Given the description of an element on the screen output the (x, y) to click on. 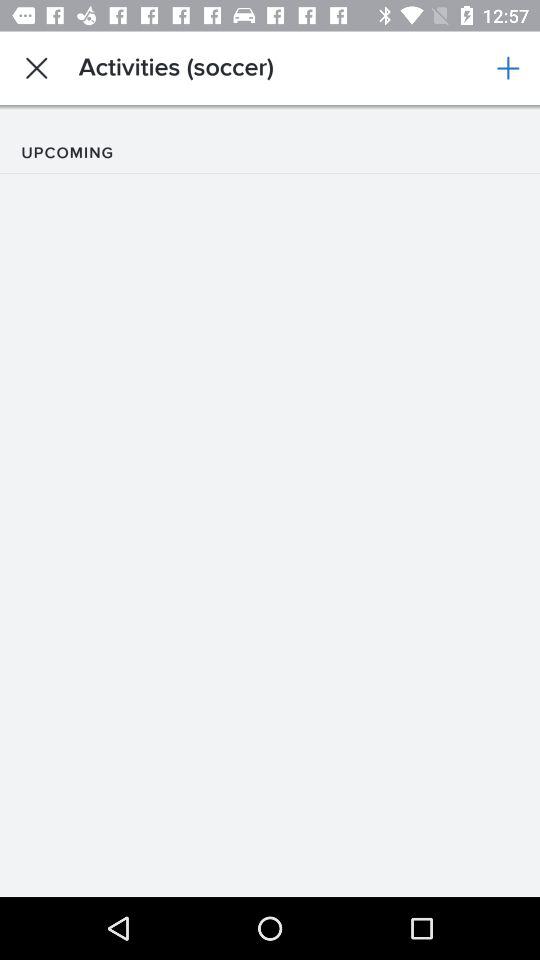
choose the item at the top right corner (508, 67)
